Given the description of an element on the screen output the (x, y) to click on. 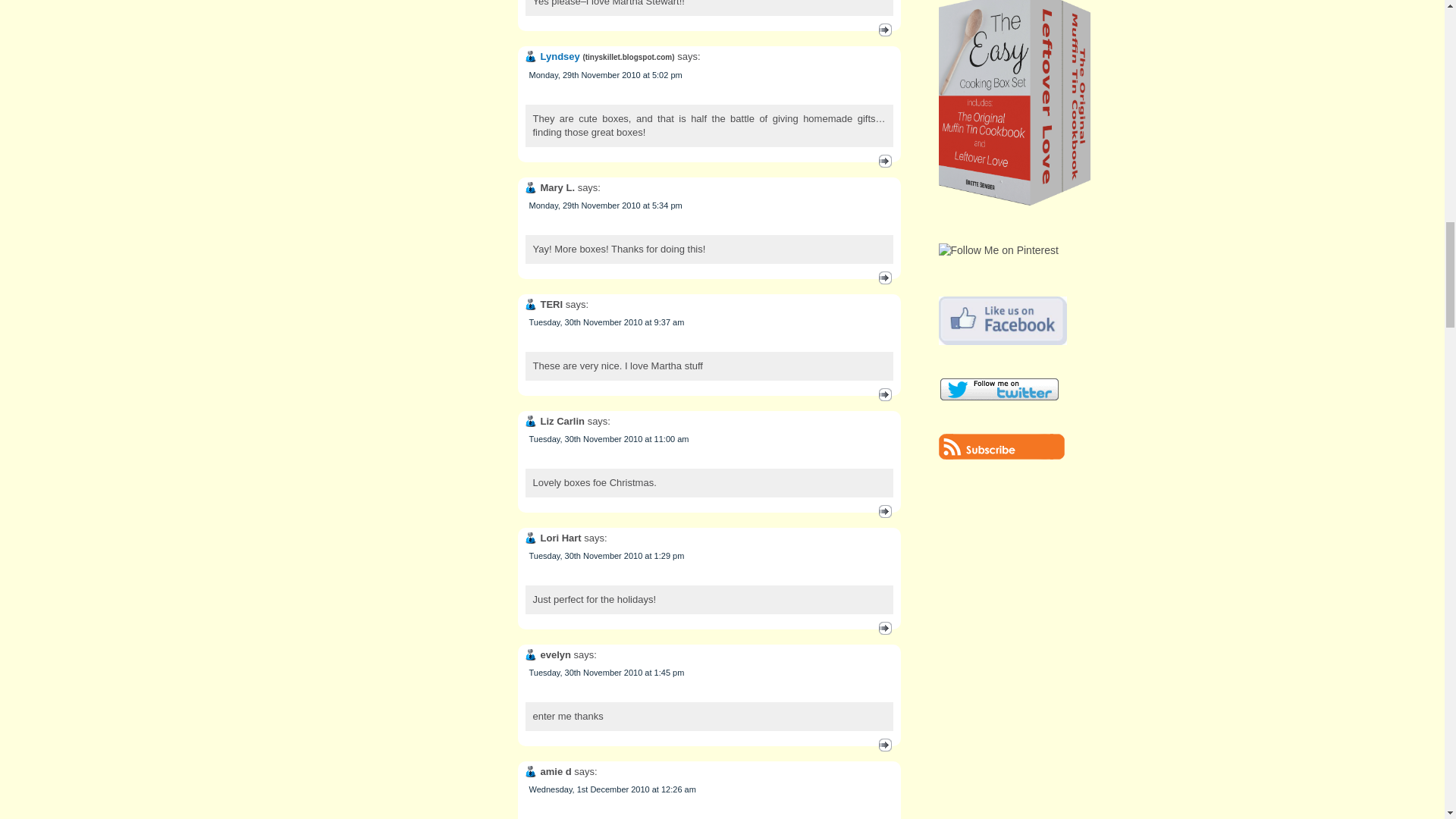
Lyndsey (559, 56)
tinyskillet.blogspot.com (628, 57)
